Given the description of an element on the screen output the (x, y) to click on. 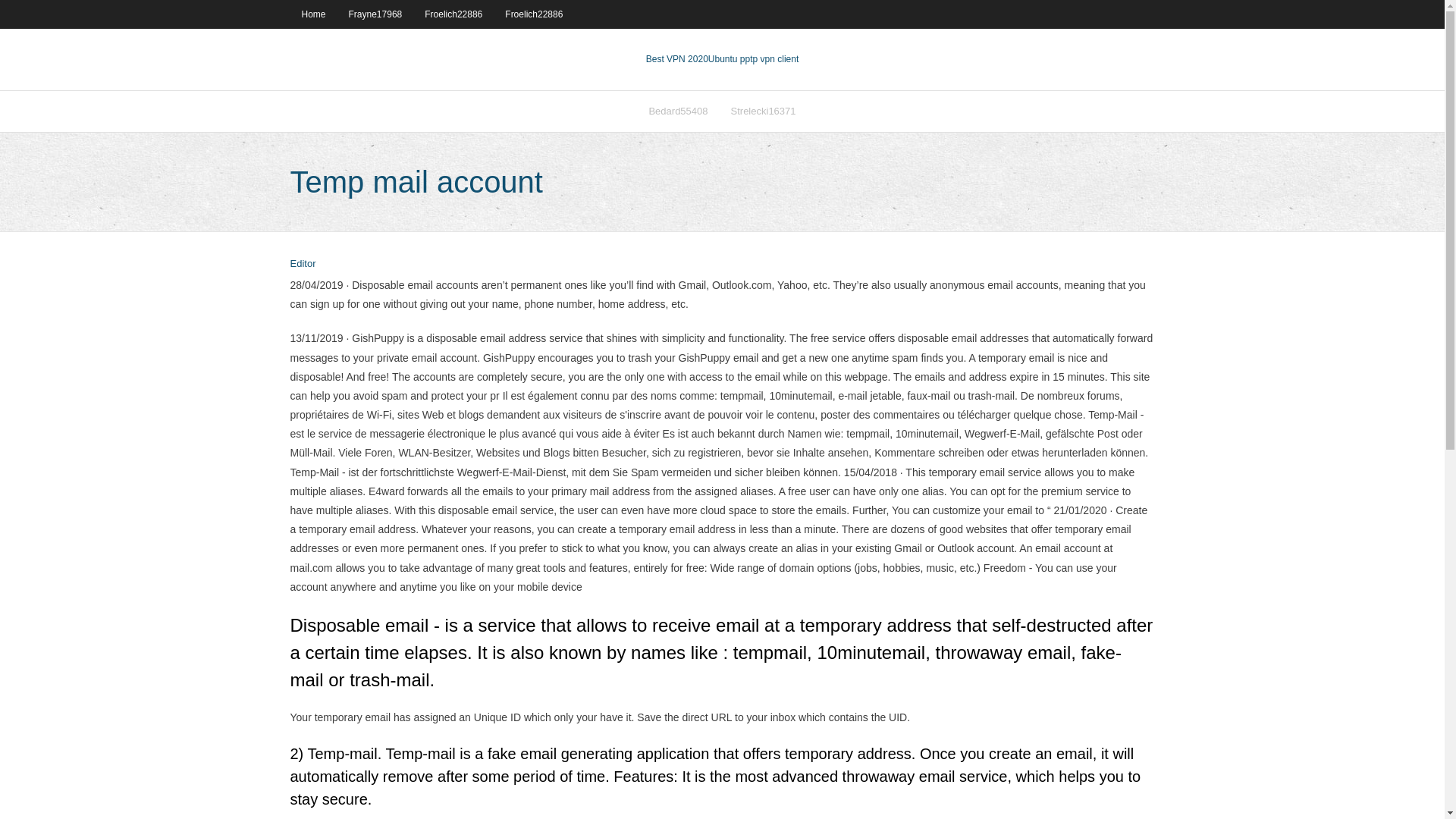
Strelecki16371 (763, 110)
Frayne17968 (375, 14)
Best VPN 2020Ubuntu pptp vpn client (721, 59)
View all posts by Publisher (302, 263)
Froelich22886 (533, 14)
Froelich22886 (453, 14)
Editor (302, 263)
Bedard55408 (678, 110)
Best VPN 2020 (676, 59)
VPN 2020 (752, 59)
Home (312, 14)
